Given the description of an element on the screen output the (x, y) to click on. 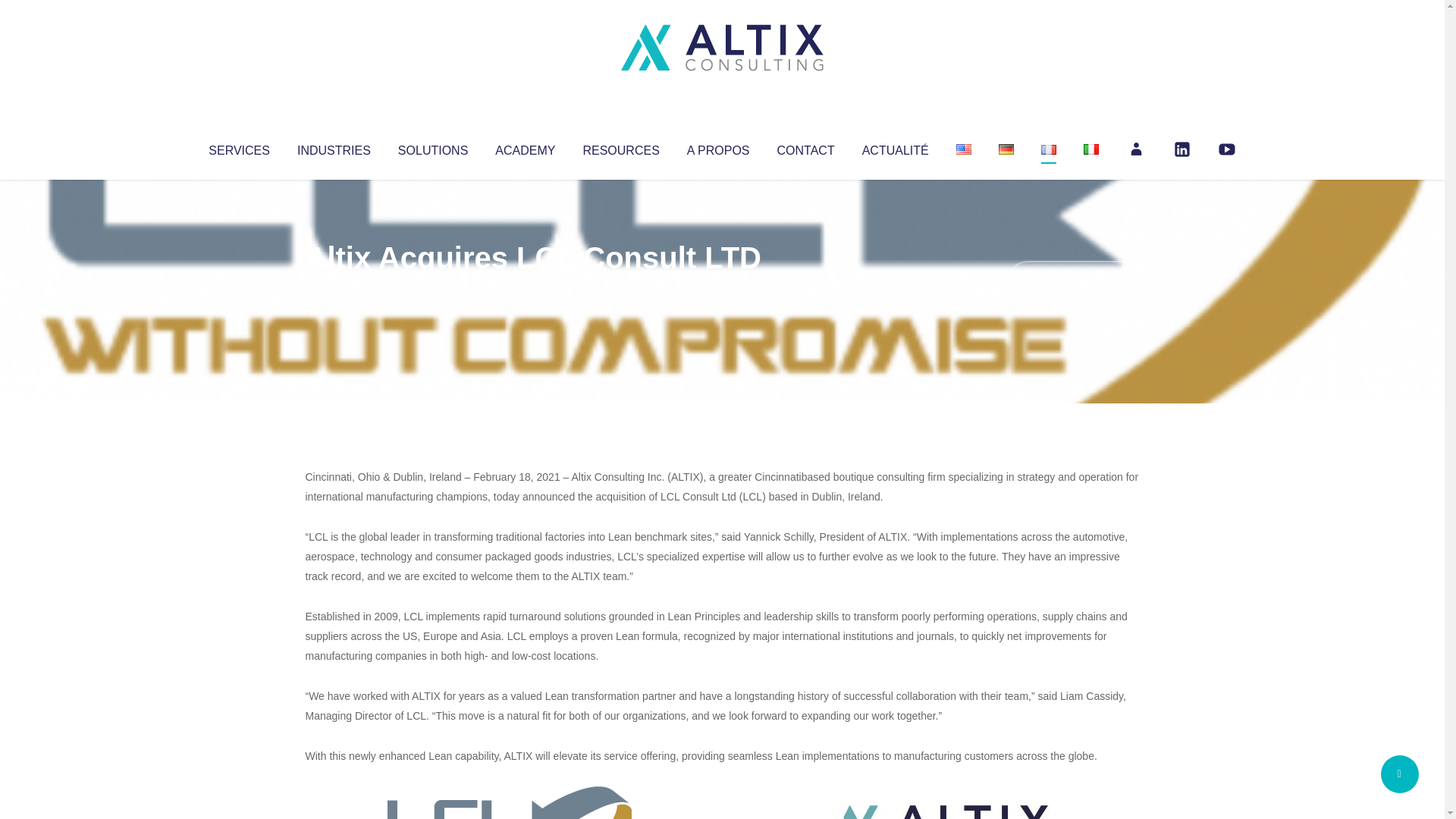
A PROPOS (718, 146)
Articles par Altix (333, 287)
Altix (333, 287)
RESOURCES (620, 146)
SOLUTIONS (432, 146)
No Comments (1073, 278)
Uncategorized (530, 287)
SERVICES (238, 146)
INDUSTRIES (334, 146)
ACADEMY (524, 146)
